Given the description of an element on the screen output the (x, y) to click on. 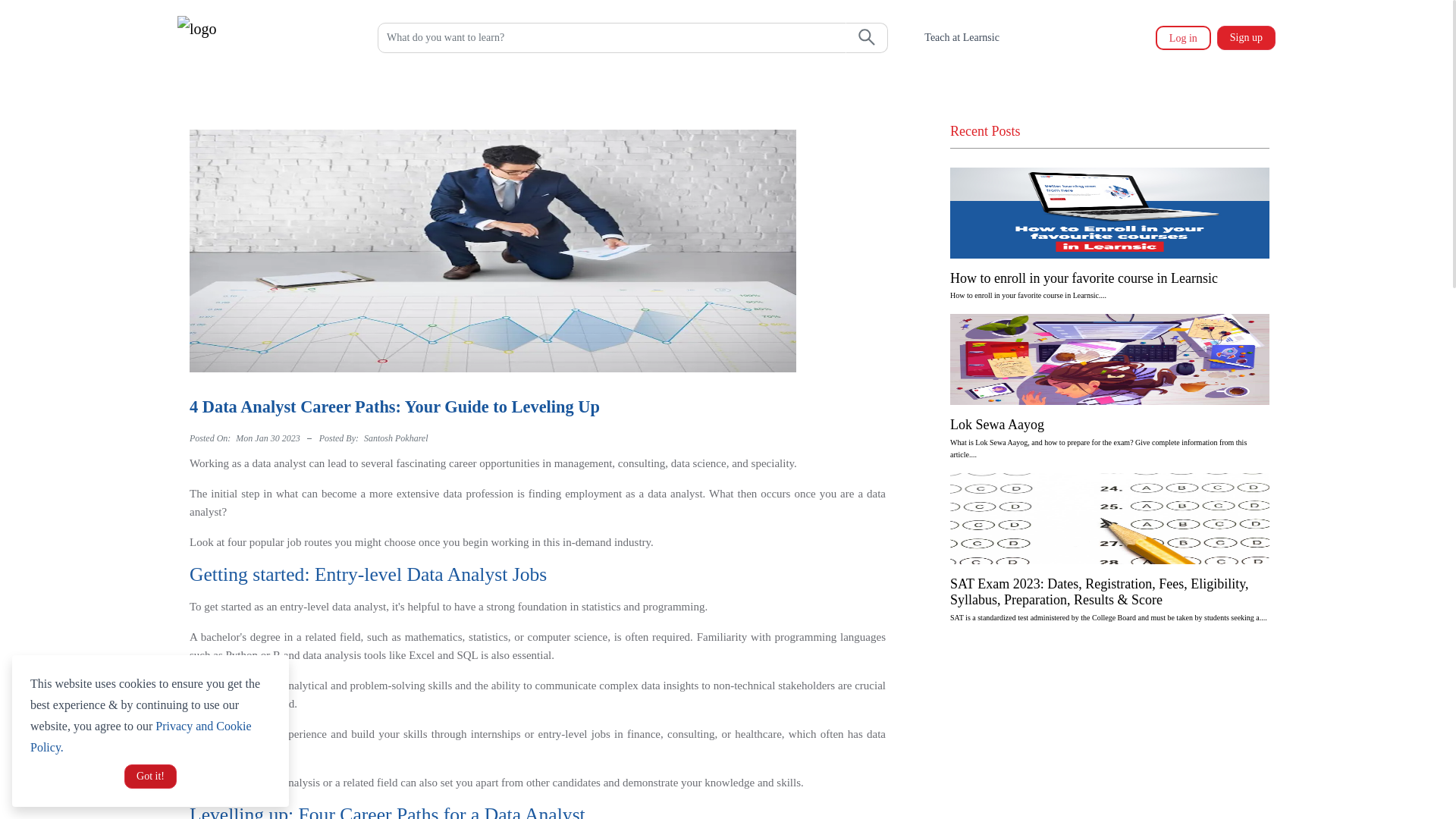
Search Courses (611, 37)
Log in (1183, 37)
Teach at Learnsic (961, 37)
Privacy and Cookie Policy. (140, 736)
Sign up (1246, 37)
Sign up (1243, 37)
Got it! (149, 776)
